Given the description of an element on the screen output the (x, y) to click on. 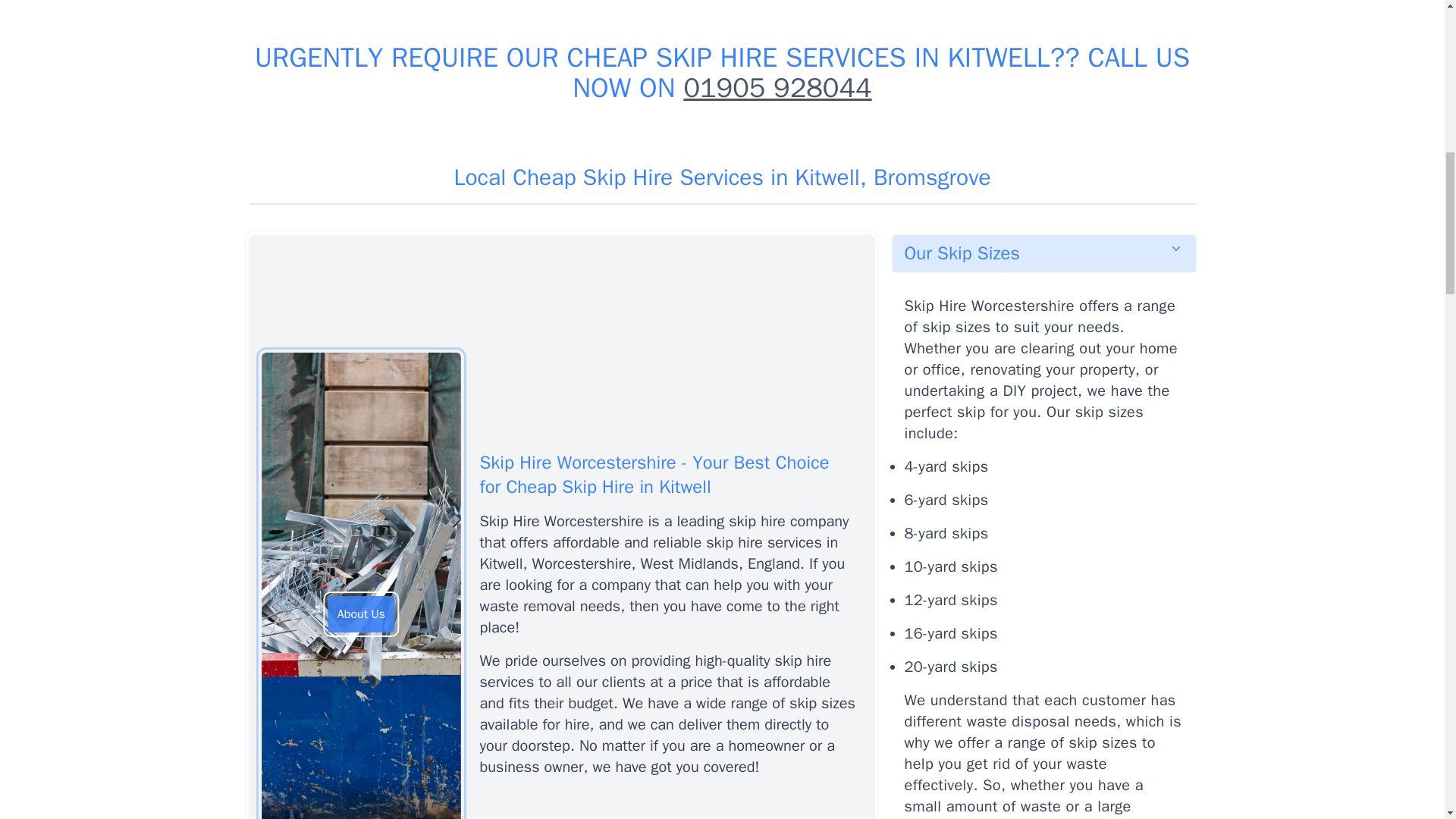
About Us (361, 614)
01905 928044 (776, 87)
Our Skip Sizes (1043, 253)
